Given the description of an element on the screen output the (x, y) to click on. 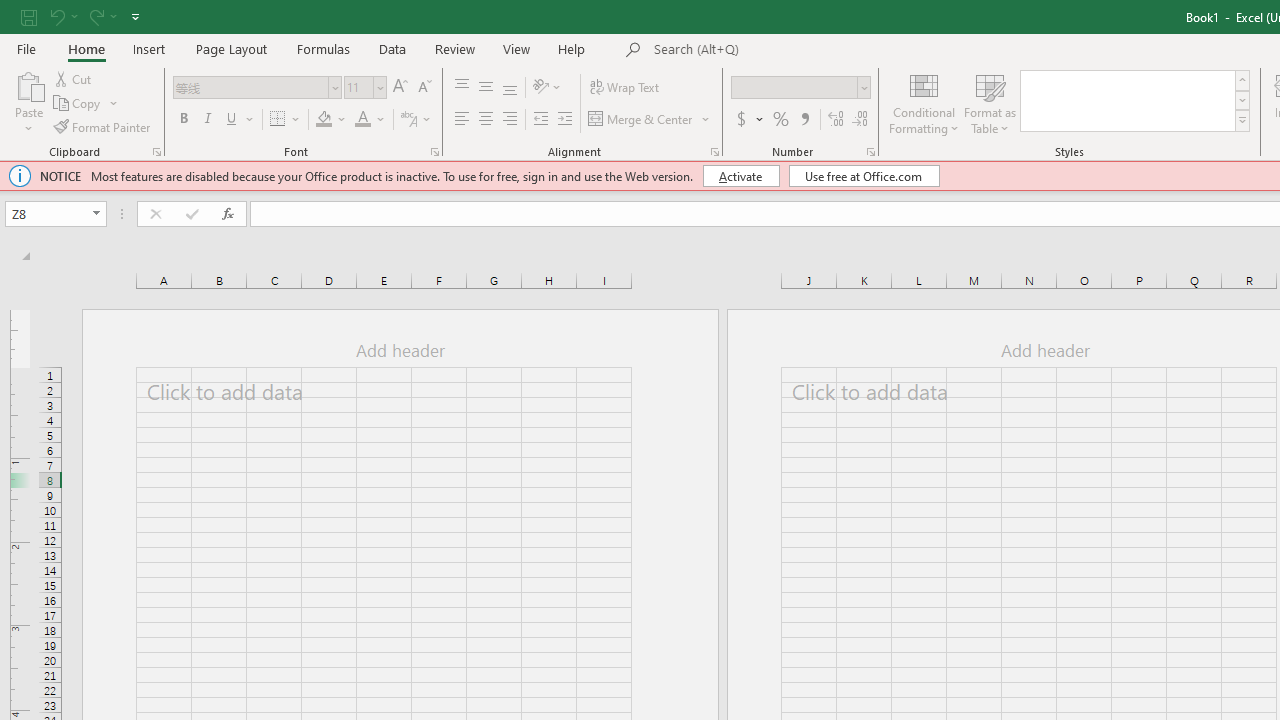
Center (485, 119)
Middle Align (485, 87)
Cut (73, 78)
Orientation (547, 87)
Align Left (461, 119)
Bold (183, 119)
Bottom Border (278, 119)
